Given the description of an element on the screen output the (x, y) to click on. 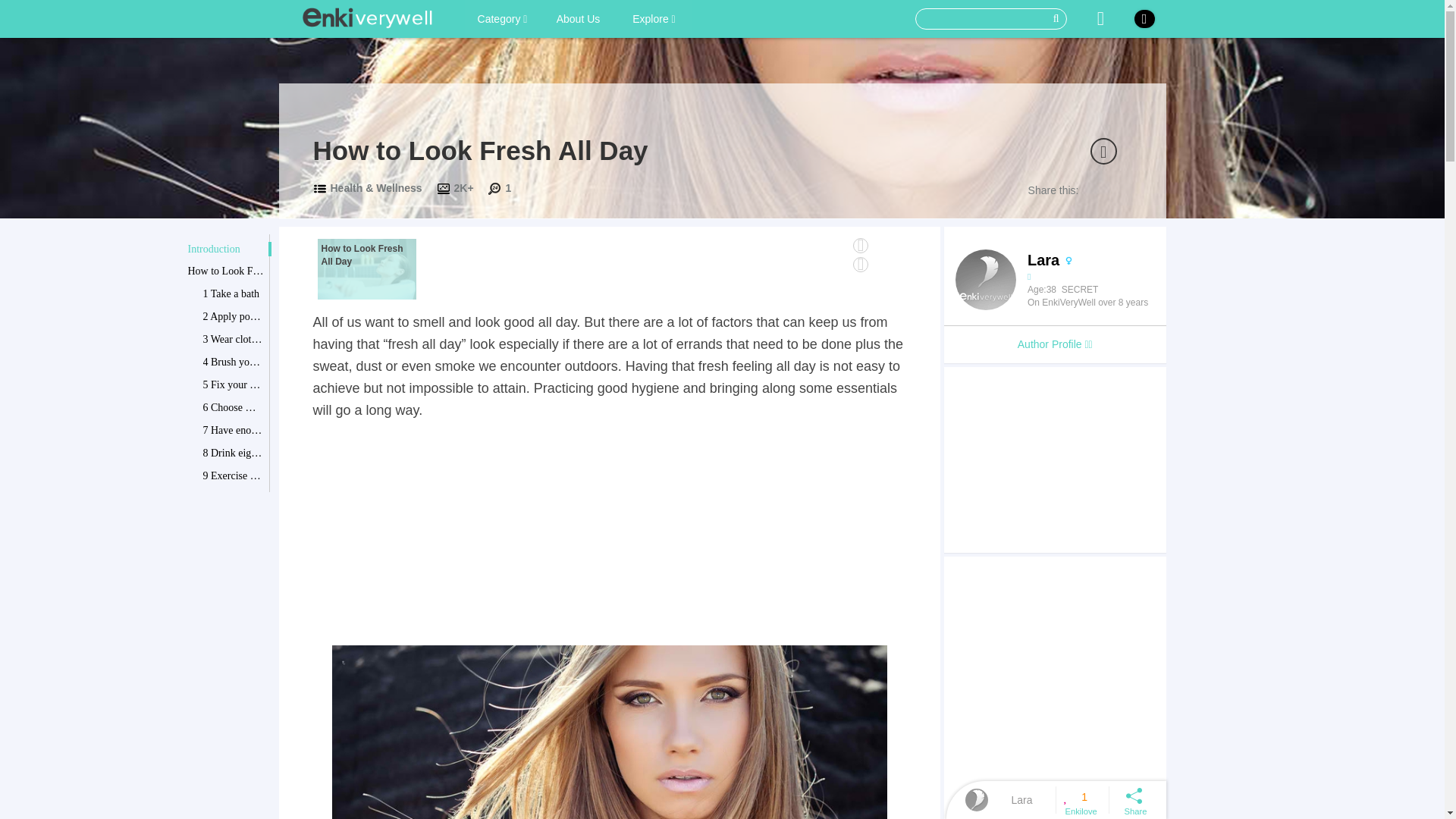
10 Wear sun protection (233, 498)
8 Drink eight to ten glasses of water a day (233, 453)
Category (502, 18)
How to Look Fresh All Day (225, 271)
3 Wear clothes made of cotton fabrics (233, 339)
1 Take a bath (233, 294)
Introduction (225, 248)
9 Exercise regularly (233, 476)
2 Apply powder (233, 316)
How to Look Fresh All Day (365, 268)
